Given the description of an element on the screen output the (x, y) to click on. 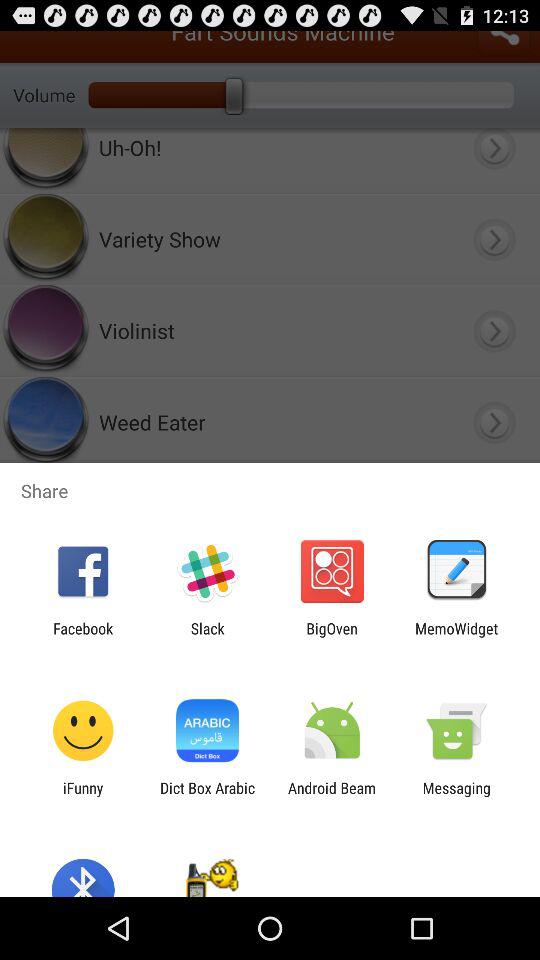
scroll to slack icon (207, 637)
